Given the description of an element on the screen output the (x, y) to click on. 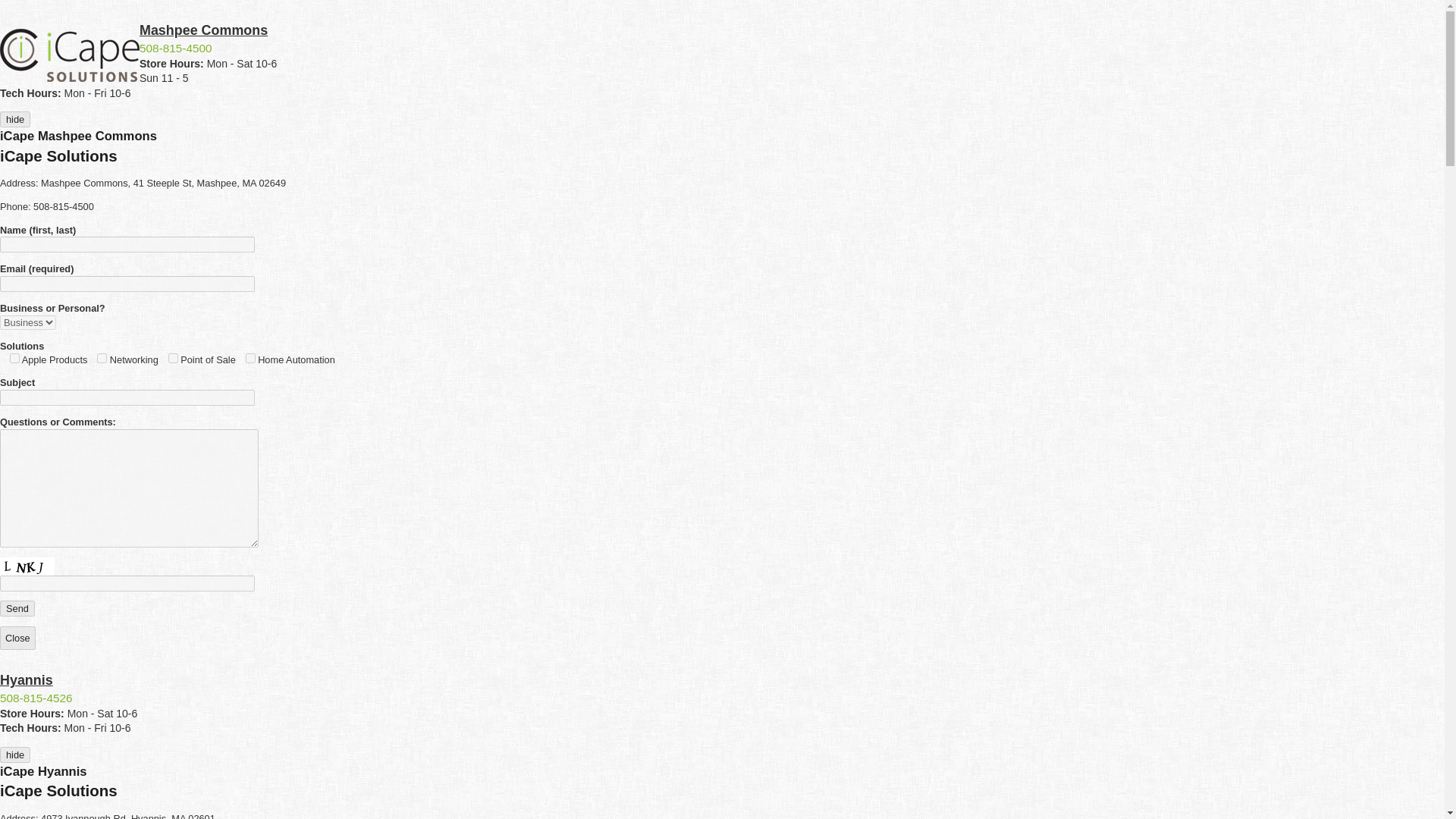
hide (15, 119)
Close (17, 638)
Hyannis (26, 679)
hide (15, 754)
Apple Products (15, 357)
Send (17, 608)
Home Automation (251, 357)
Mashpee Commons (203, 29)
Networking (101, 357)
Point of Sale (172, 357)
